Given the description of an element on the screen output the (x, y) to click on. 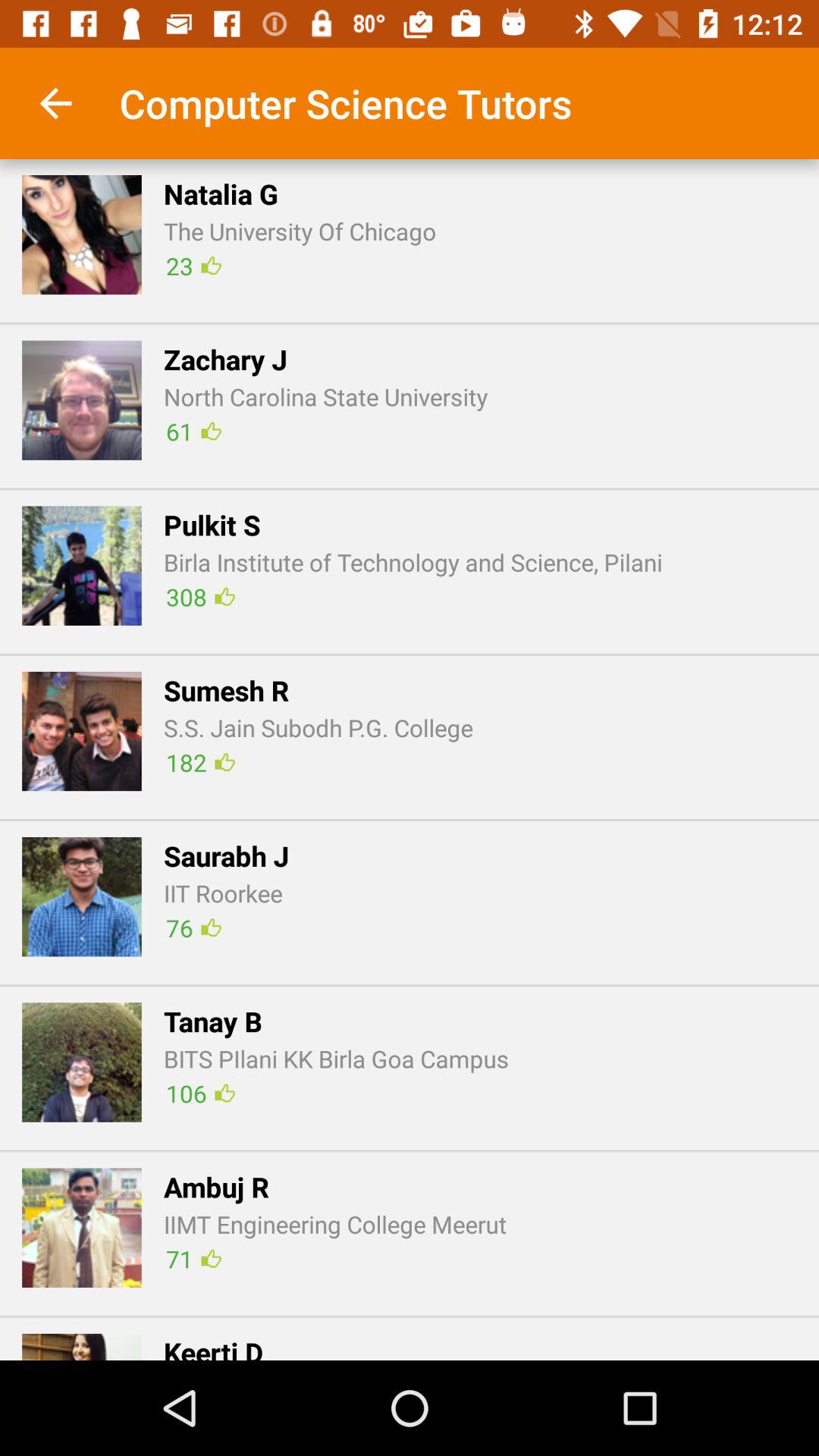
choose item below the bits pilani kk (200, 1093)
